Given the description of an element on the screen output the (x, y) to click on. 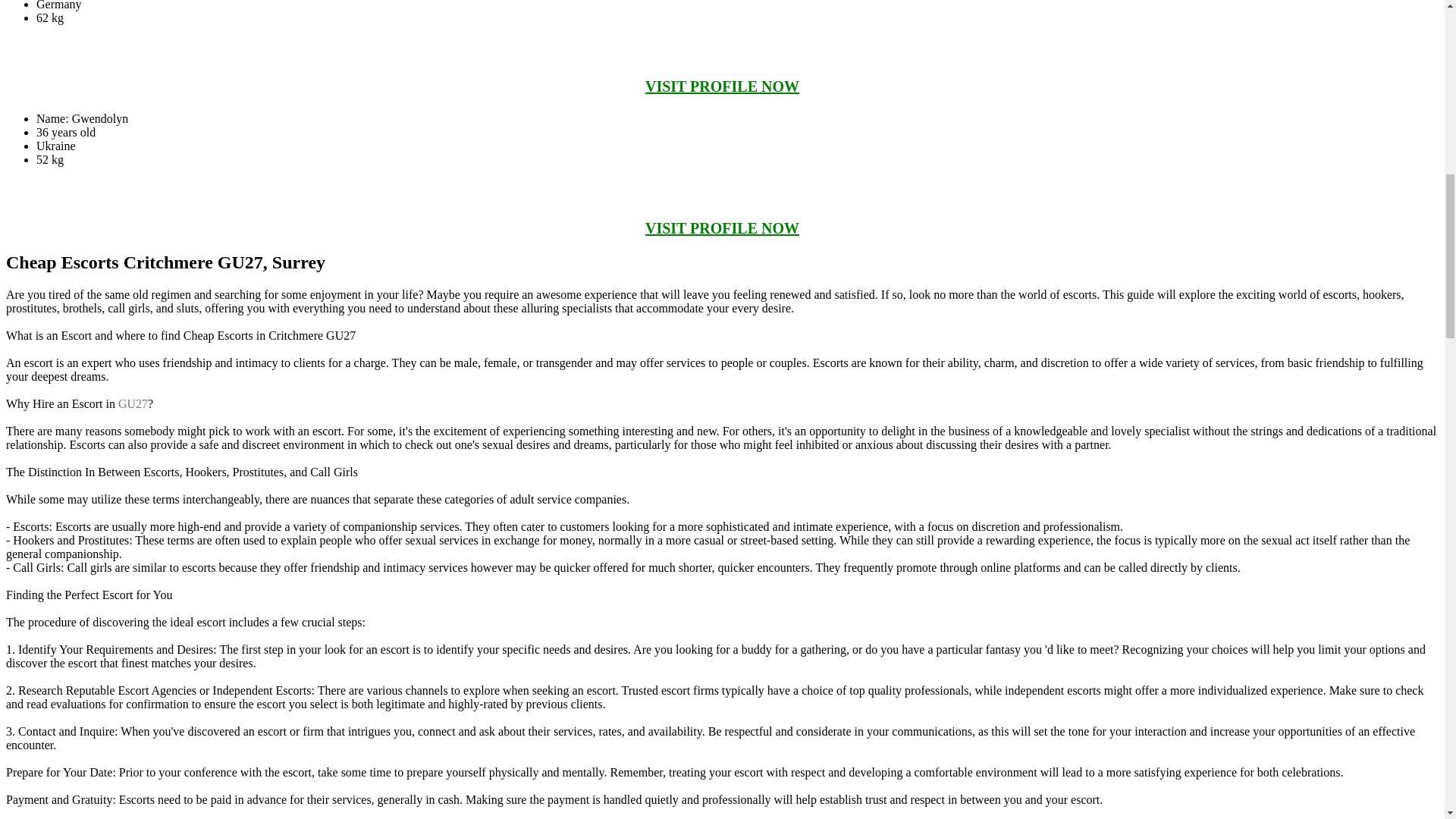
VISIT PROFILE NOW (722, 228)
VISIT PROFILE NOW (722, 86)
